Given the description of an element on the screen output the (x, y) to click on. 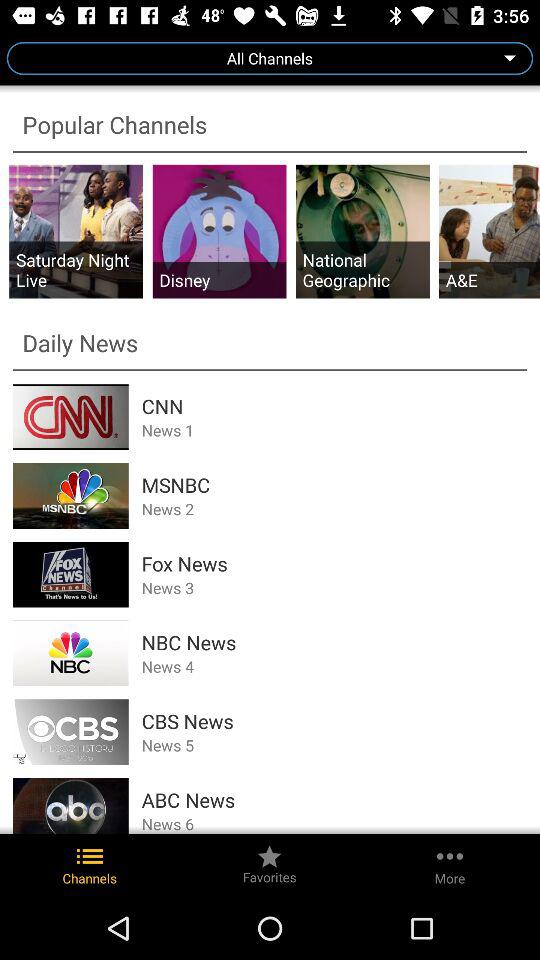
open the app below the abc news app (333, 823)
